Given the description of an element on the screen output the (x, y) to click on. 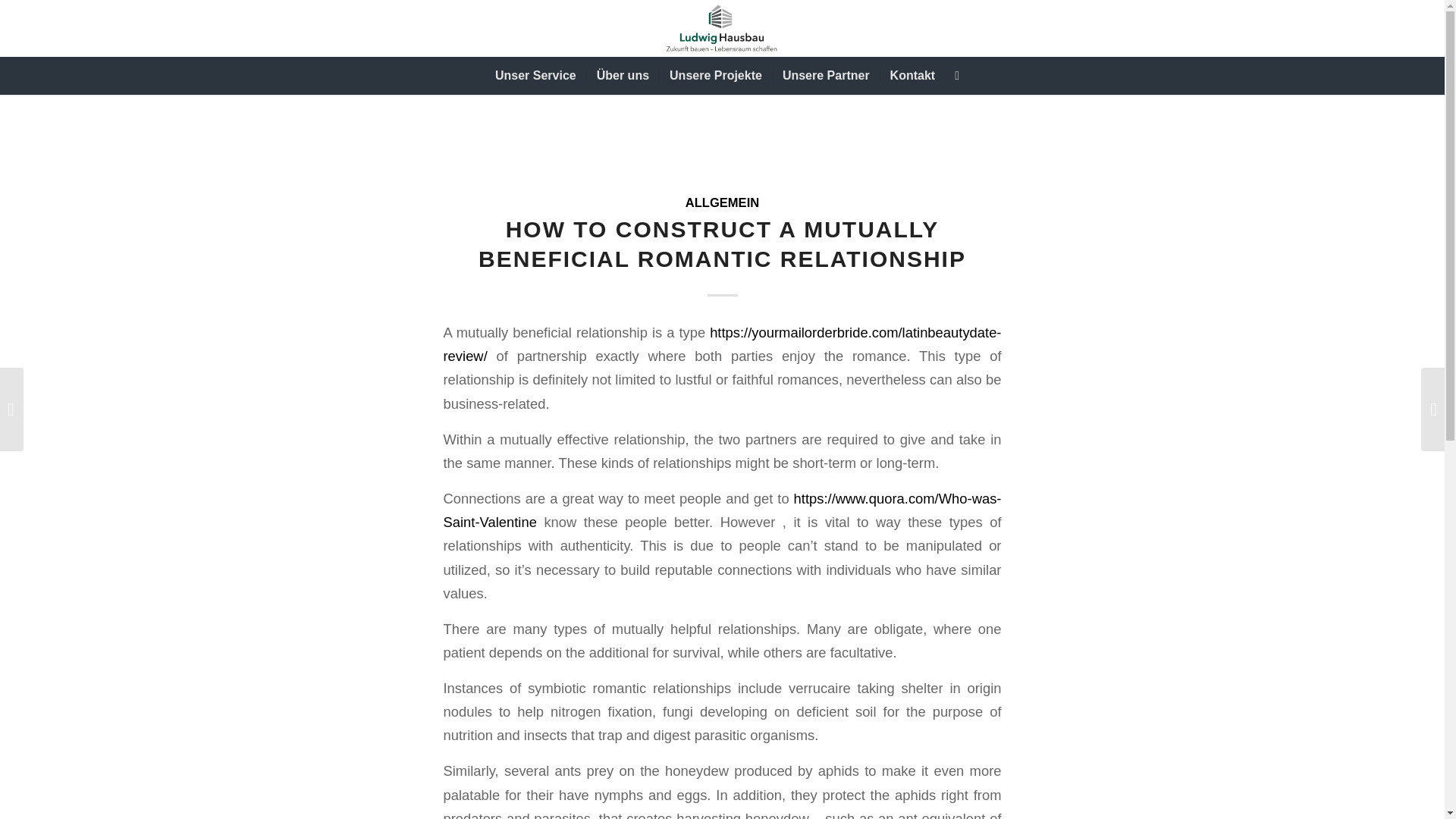
Unser Service (535, 75)
ALLGEMEIN (721, 202)
Unsere Partner (825, 75)
HOW TO CONSTRUCT A MUTUALLY BENEFICIAL ROMANTIC RELATIONSHIP (722, 244)
Kontakt (911, 75)
Unsere Projekte (715, 75)
